Given the description of an element on the screen output the (x, y) to click on. 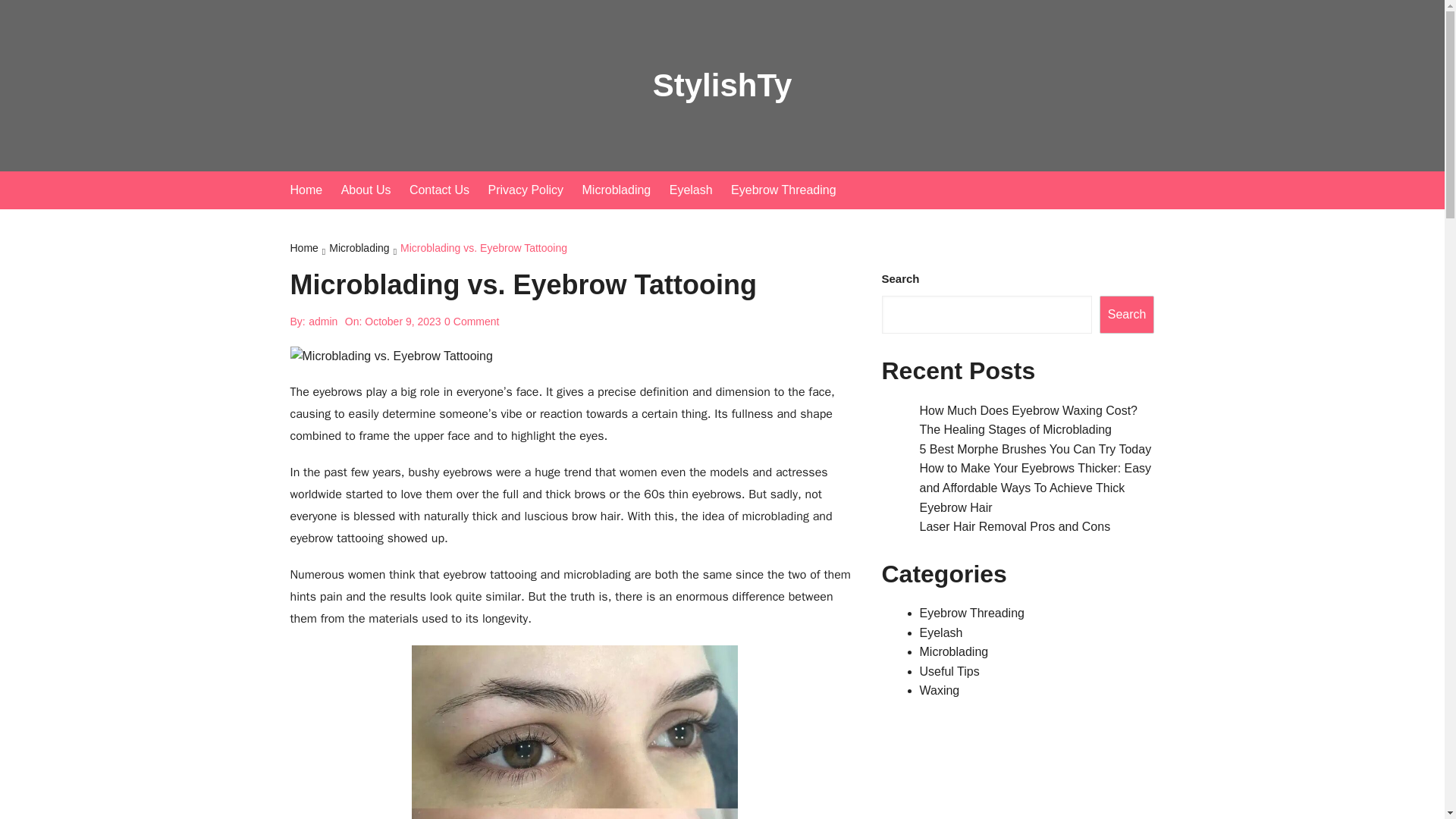
Eyebrow Threading (970, 612)
October 9, 2023 (403, 321)
0 Comment (471, 321)
Laser Hair Removal Pros and Cons (1013, 526)
Useful Tips (948, 671)
Privacy Policy (533, 190)
Contact Us (446, 190)
About Us (373, 190)
Microblading (624, 190)
The Healing Stages of Microblading (1014, 429)
Microblading vs. Eyebrow Tattooing (483, 249)
Waxing (938, 689)
Eyelash (940, 632)
StylishTy (722, 85)
